Given the description of an element on the screen output the (x, y) to click on. 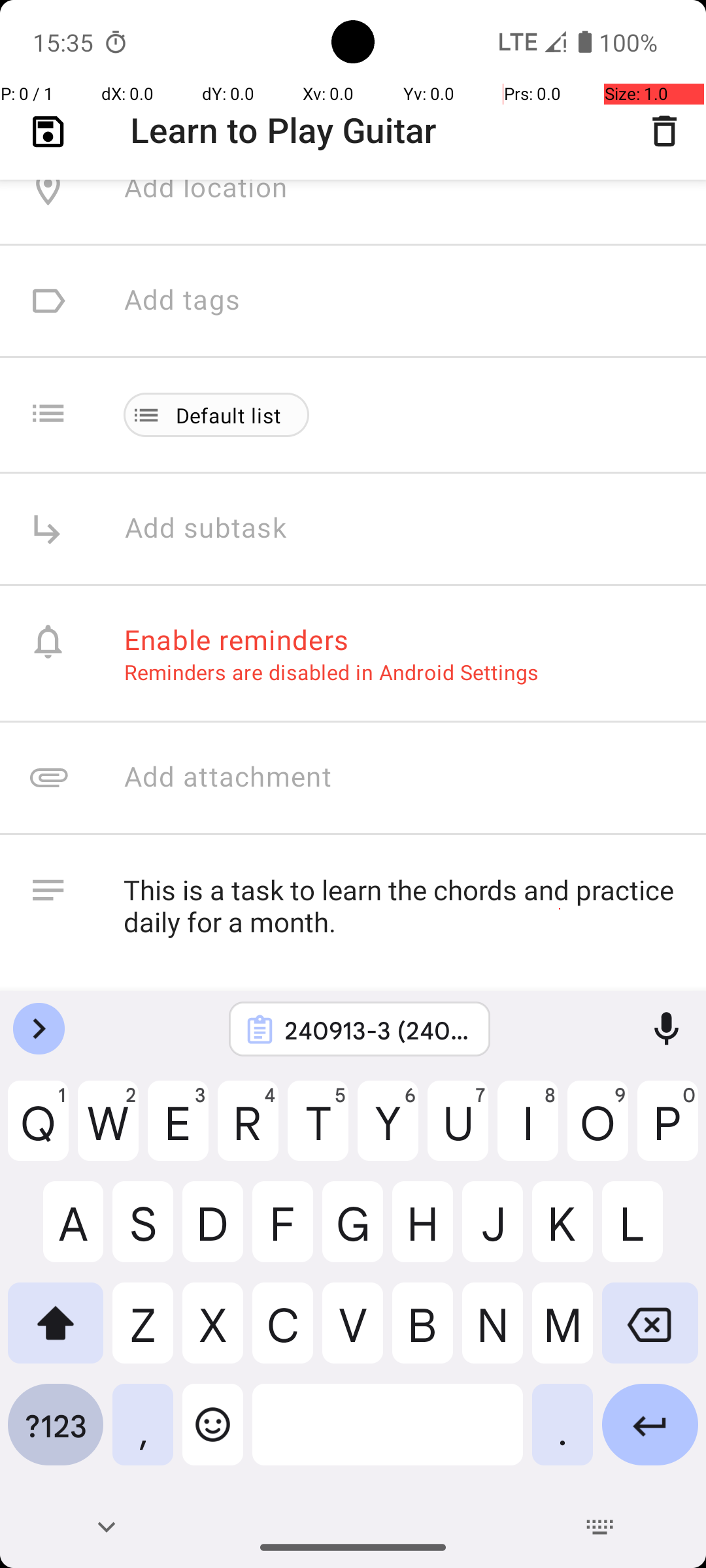
This is a task to learn the chords and practice daily for a month.
 Element type: android.widget.EditText (400, 922)
240913-3 (240906-2的from base对照组) Element type: android.widget.TextView (376, 1029)
